Given the description of an element on the screen output the (x, y) to click on. 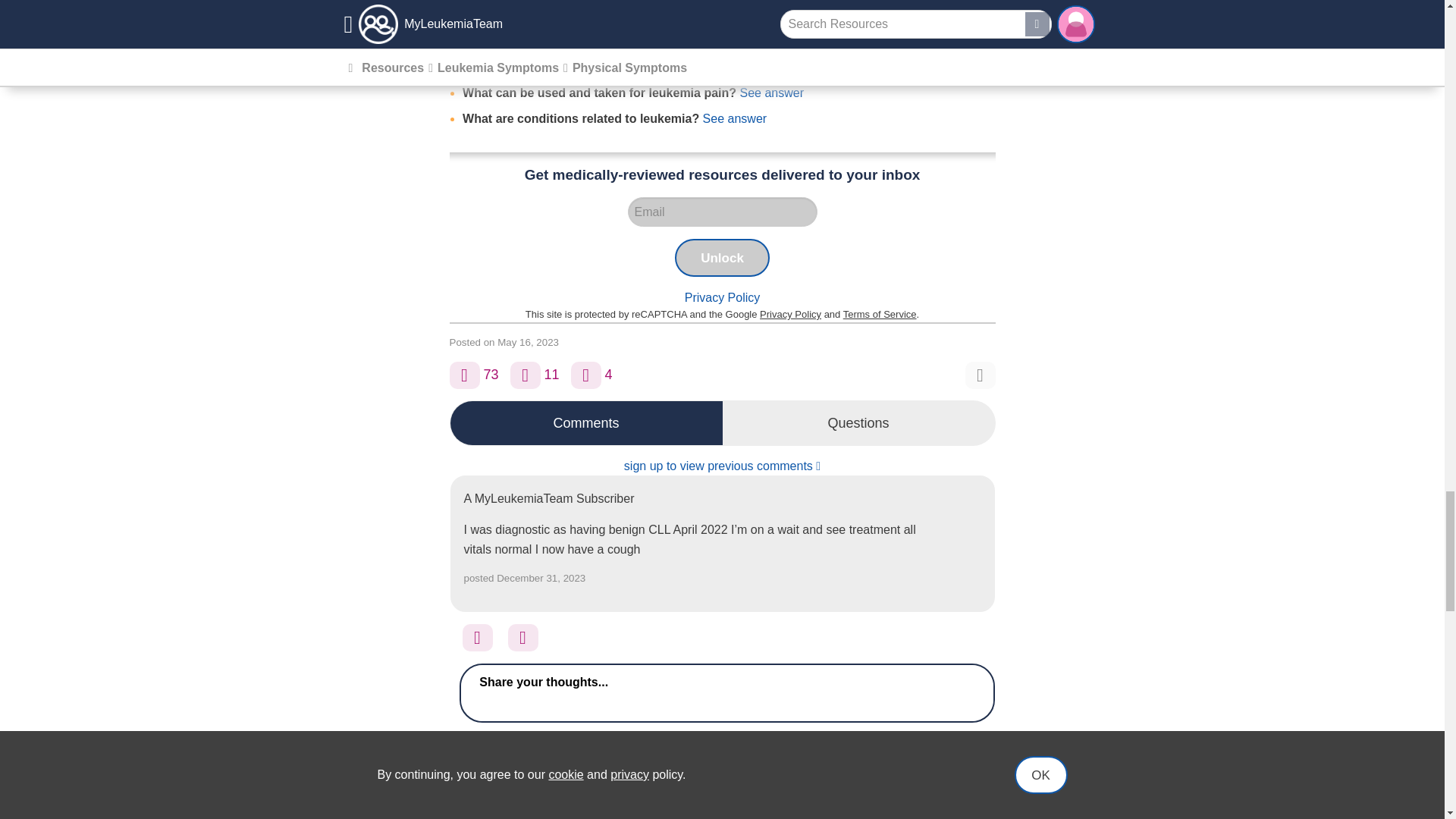
submit (954, 753)
I like this (523, 637)
I like this (463, 374)
Ask a question (585, 374)
Add a comment (525, 374)
Send a hug (478, 637)
Unlock (722, 257)
